Given the description of an element on the screen output the (x, y) to click on. 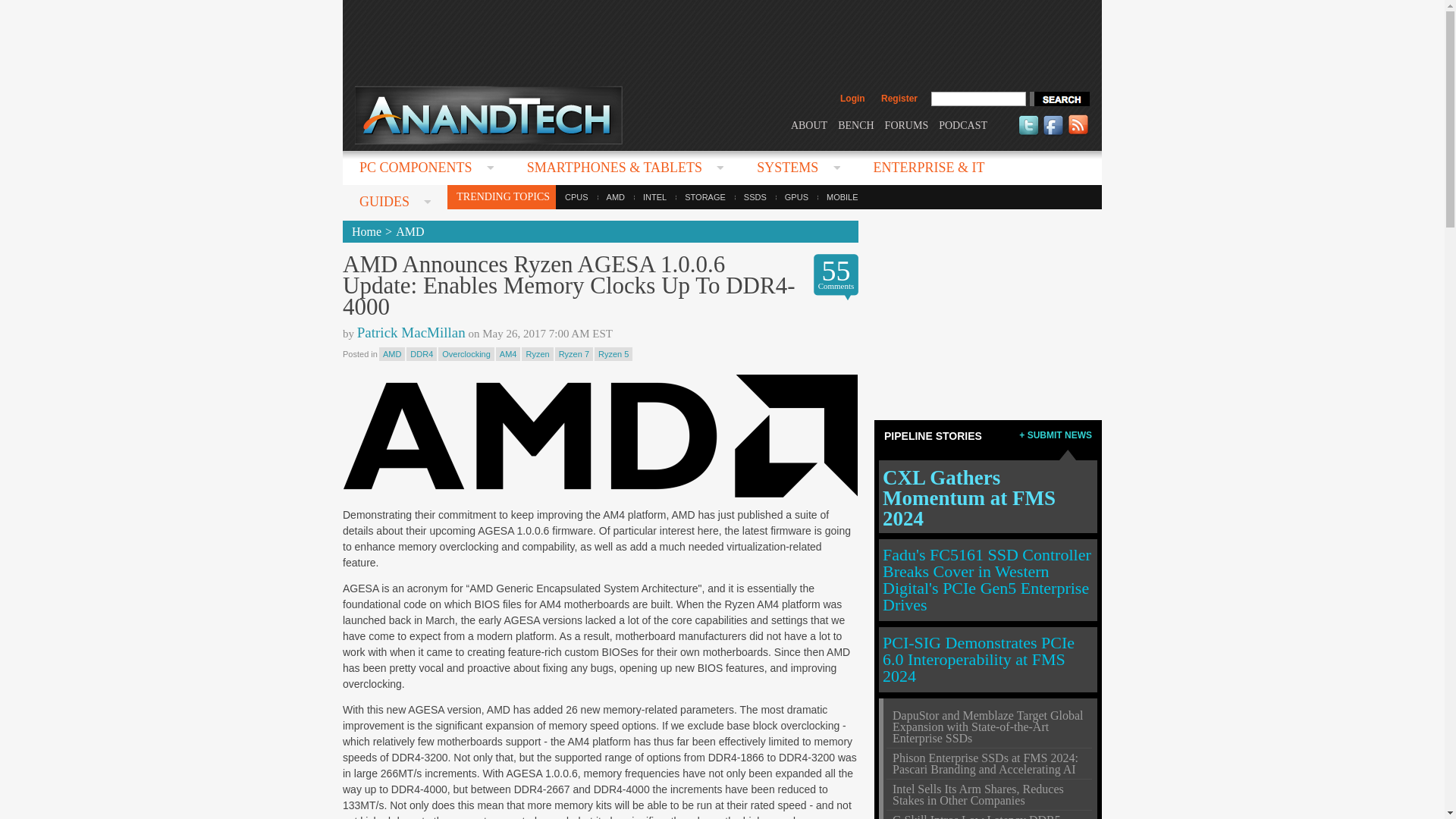
PODCAST (963, 125)
Login (852, 98)
FORUMS (906, 125)
search (1059, 98)
BENCH (855, 125)
ABOUT (808, 125)
search (1059, 98)
search (1059, 98)
Register (898, 98)
